Given the description of an element on the screen output the (x, y) to click on. 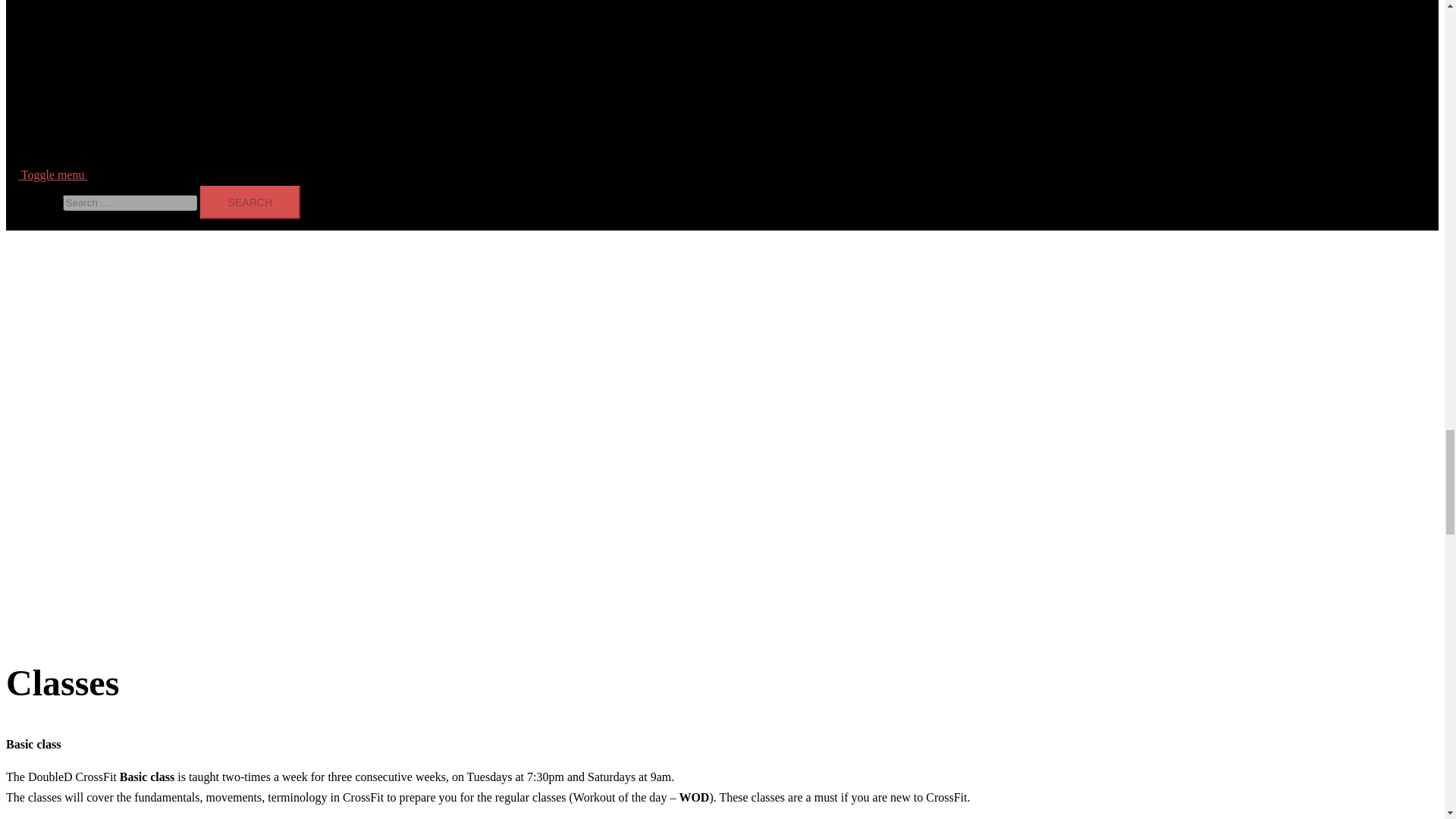
Search (249, 202)
Search (249, 202)
Search (249, 202)
Toggle menu (60, 174)
